Given the description of an element on the screen output the (x, y) to click on. 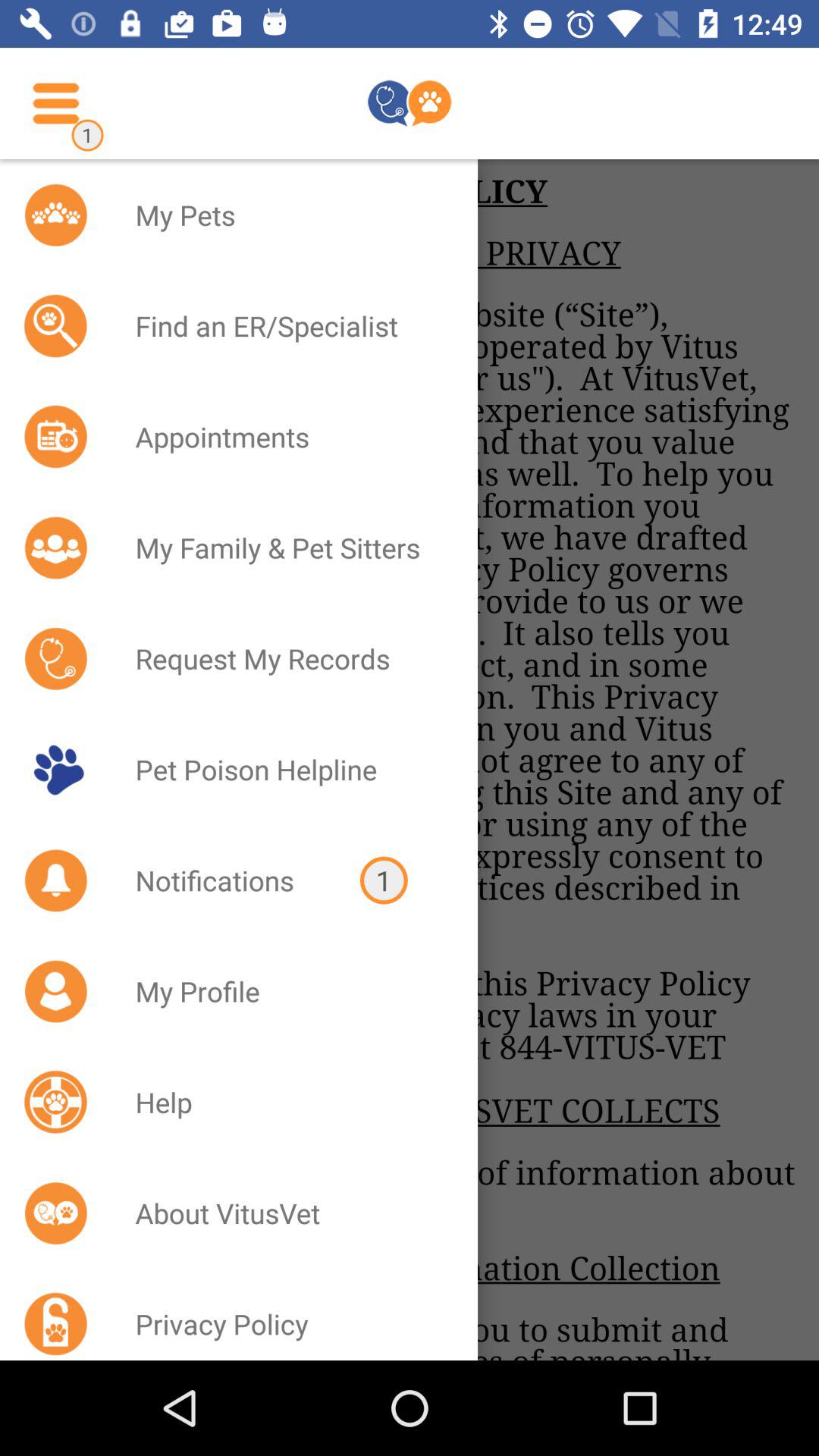
jump to about vitusvet (286, 1212)
